Given the description of an element on the screen output the (x, y) to click on. 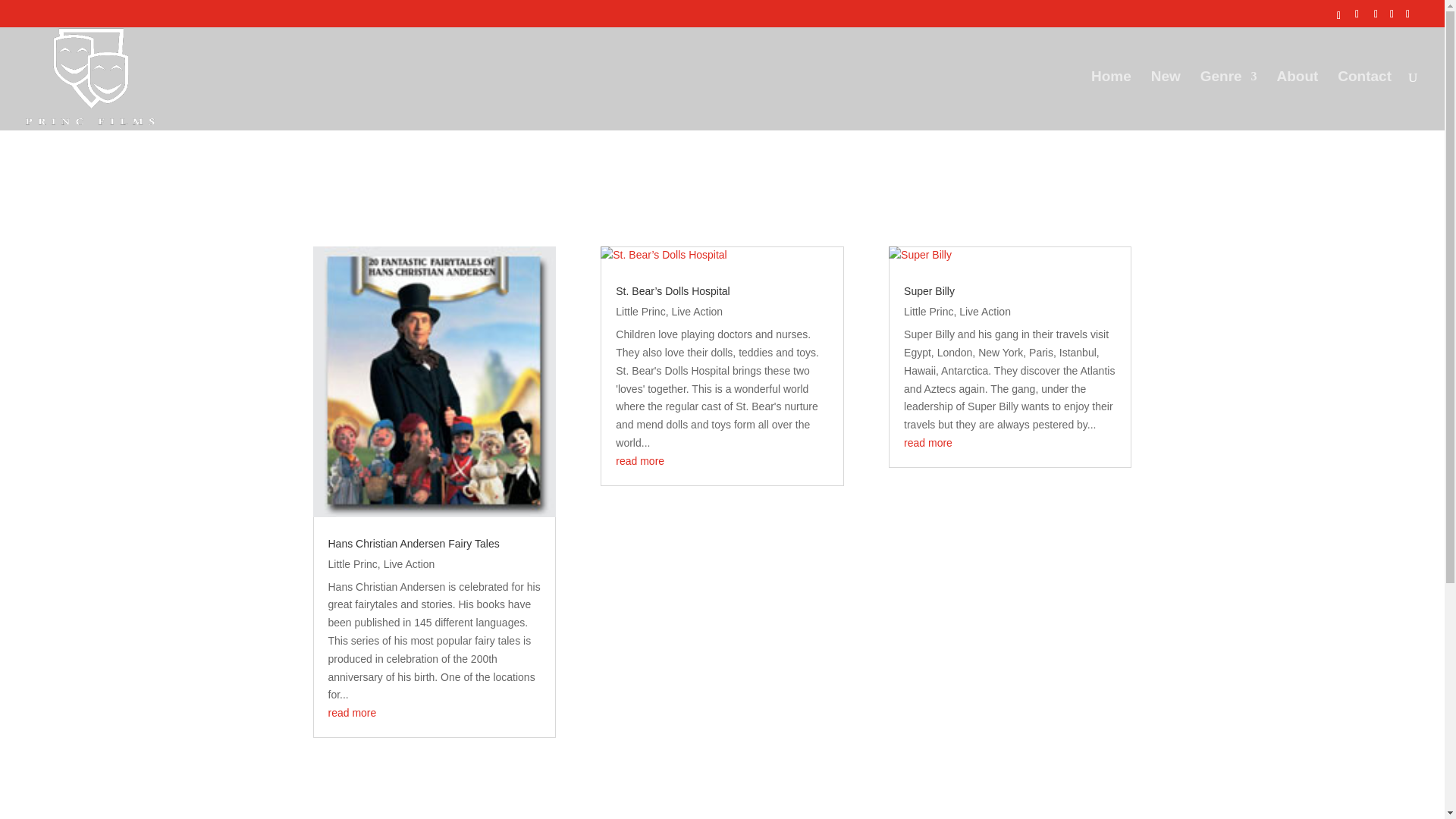
Little Princ (352, 563)
Contact (1364, 100)
Genre (1228, 100)
read more (351, 712)
Hans Christian Andersen Fairy Tales (413, 543)
Live Action (409, 563)
